Given the description of an element on the screen output the (x, y) to click on. 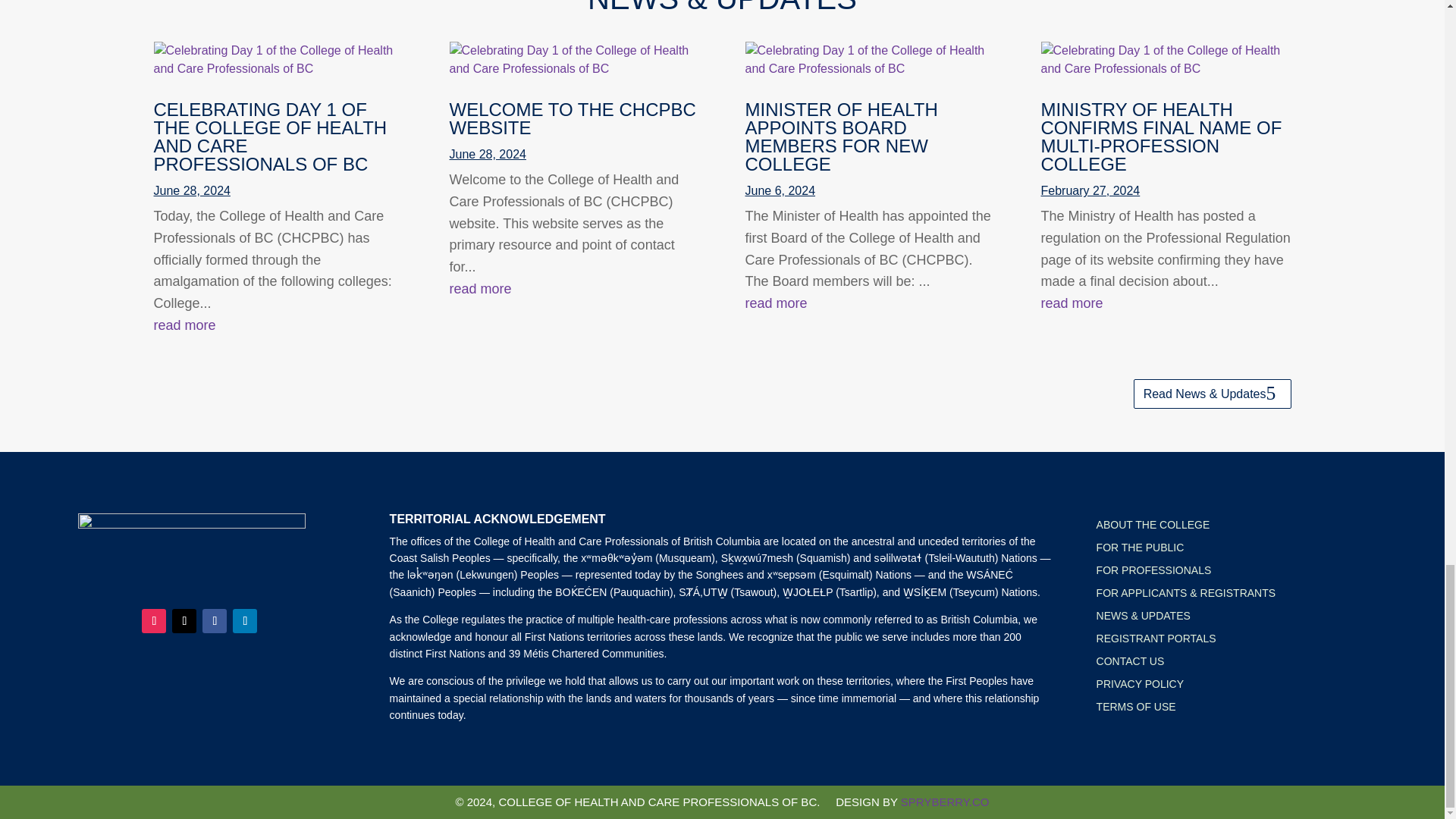
24-04-03 CHCP of BC logo horizontal WHITE (191, 550)
Follow on X (183, 621)
Follow on Facebook (214, 621)
spryberry creative strategy inc. (945, 801)
Follow on LinkedIn (244, 621)
Follow on Instagram (153, 621)
